Given the description of an element on the screen output the (x, y) to click on. 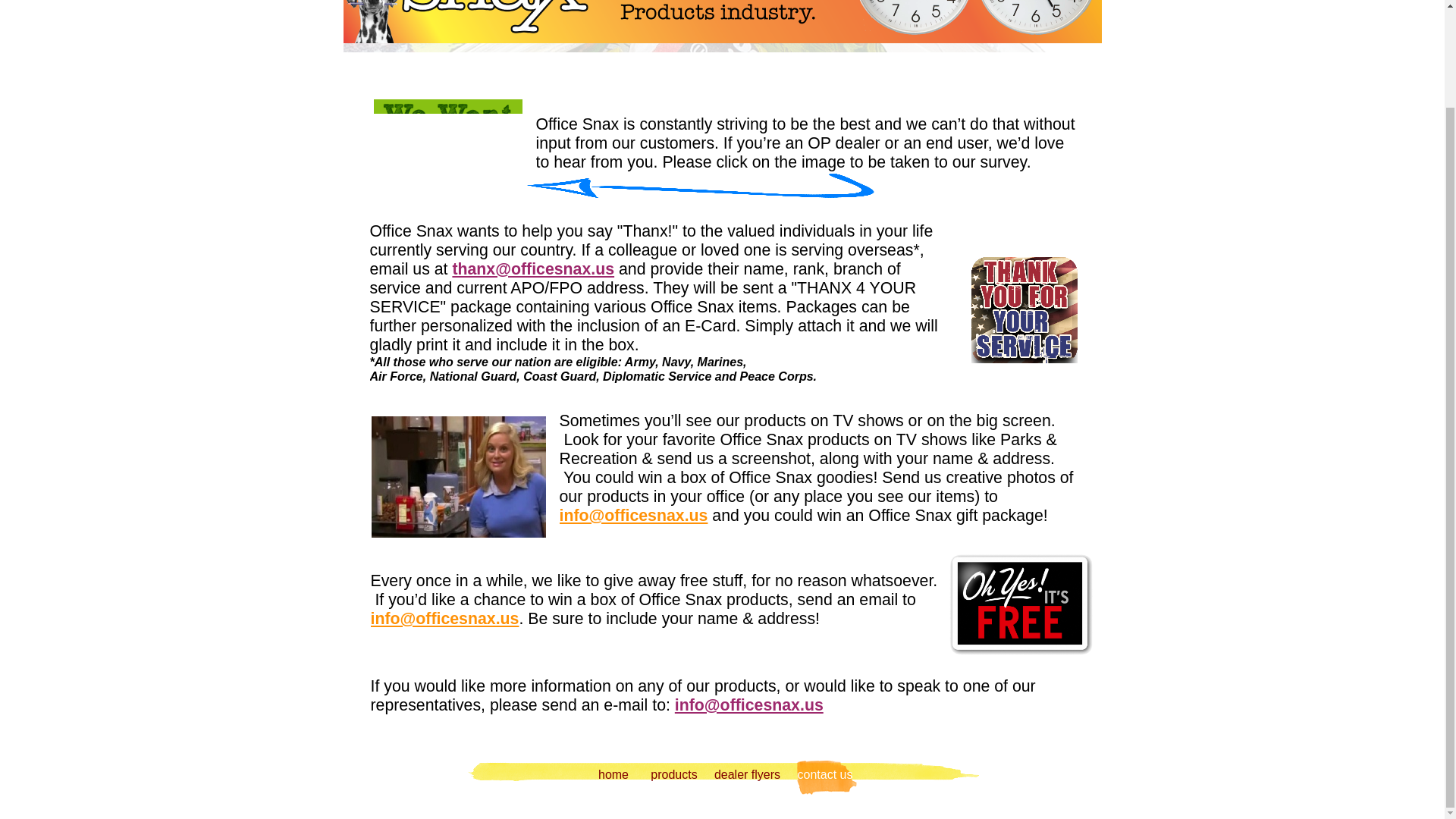
products (673, 777)
dealer flyers (748, 777)
home (613, 777)
contact us (825, 777)
